Given the description of an element on the screen output the (x, y) to click on. 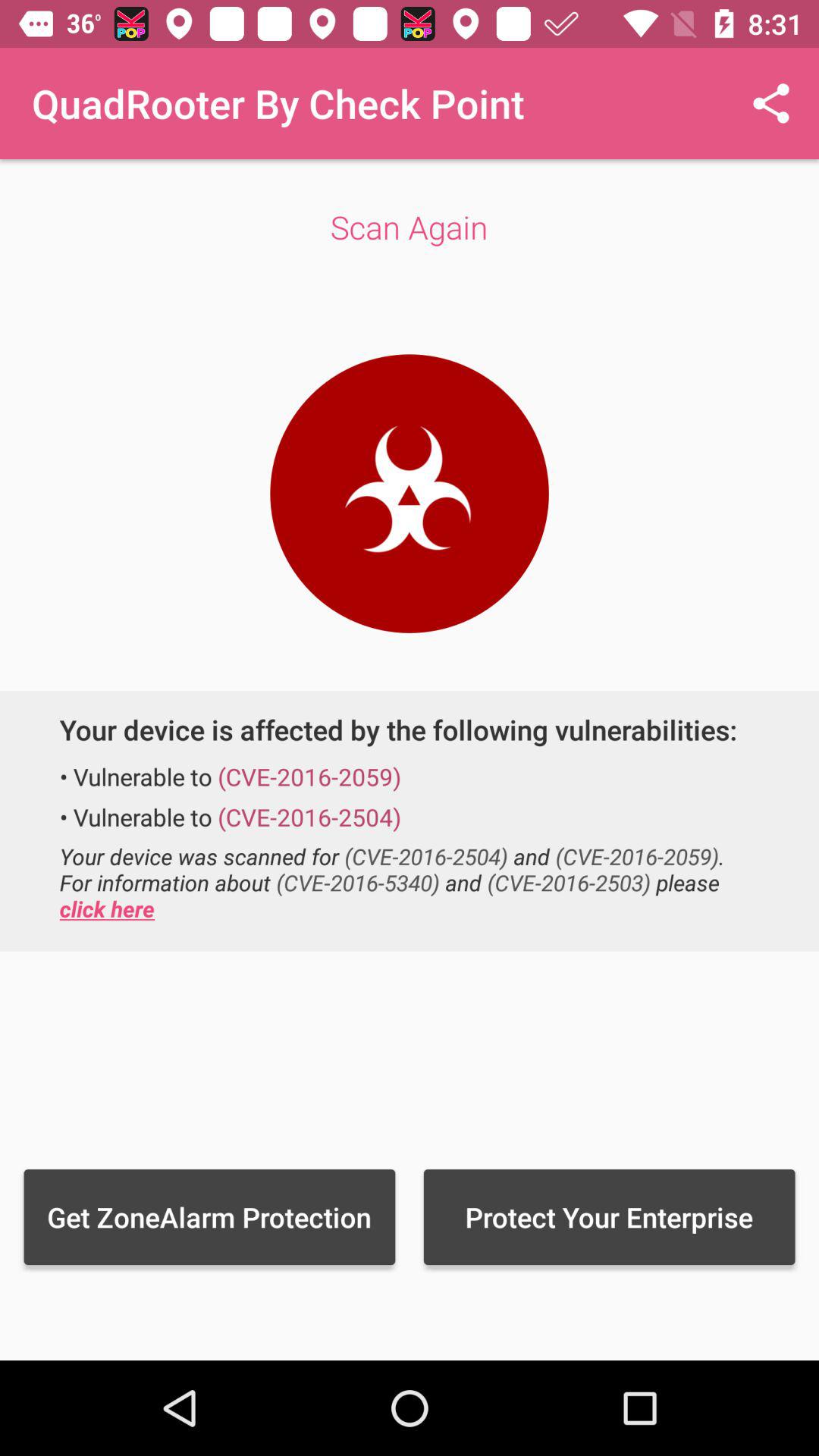
press app below the quadrooter by check item (408, 226)
